Given the description of an element on the screen output the (x, y) to click on. 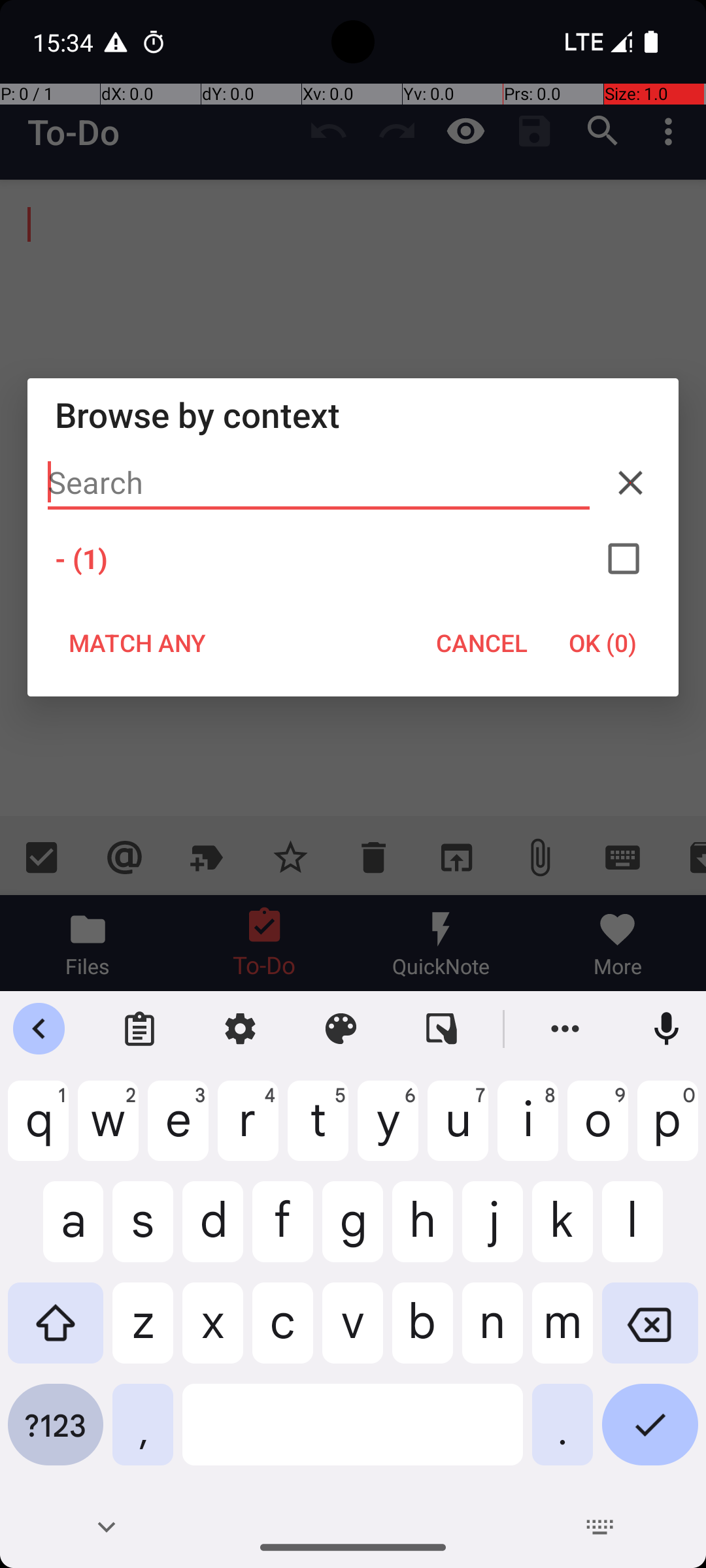
Browse by context Element type: android.widget.TextView (352, 414)
- (1) Element type: android.widget.CheckedTextView (352, 558)
MATCH ANY Element type: android.widget.Button (137, 642)
OK (0) Element type: android.widget.Button (602, 642)
